Given the description of an element on the screen output the (x, y) to click on. 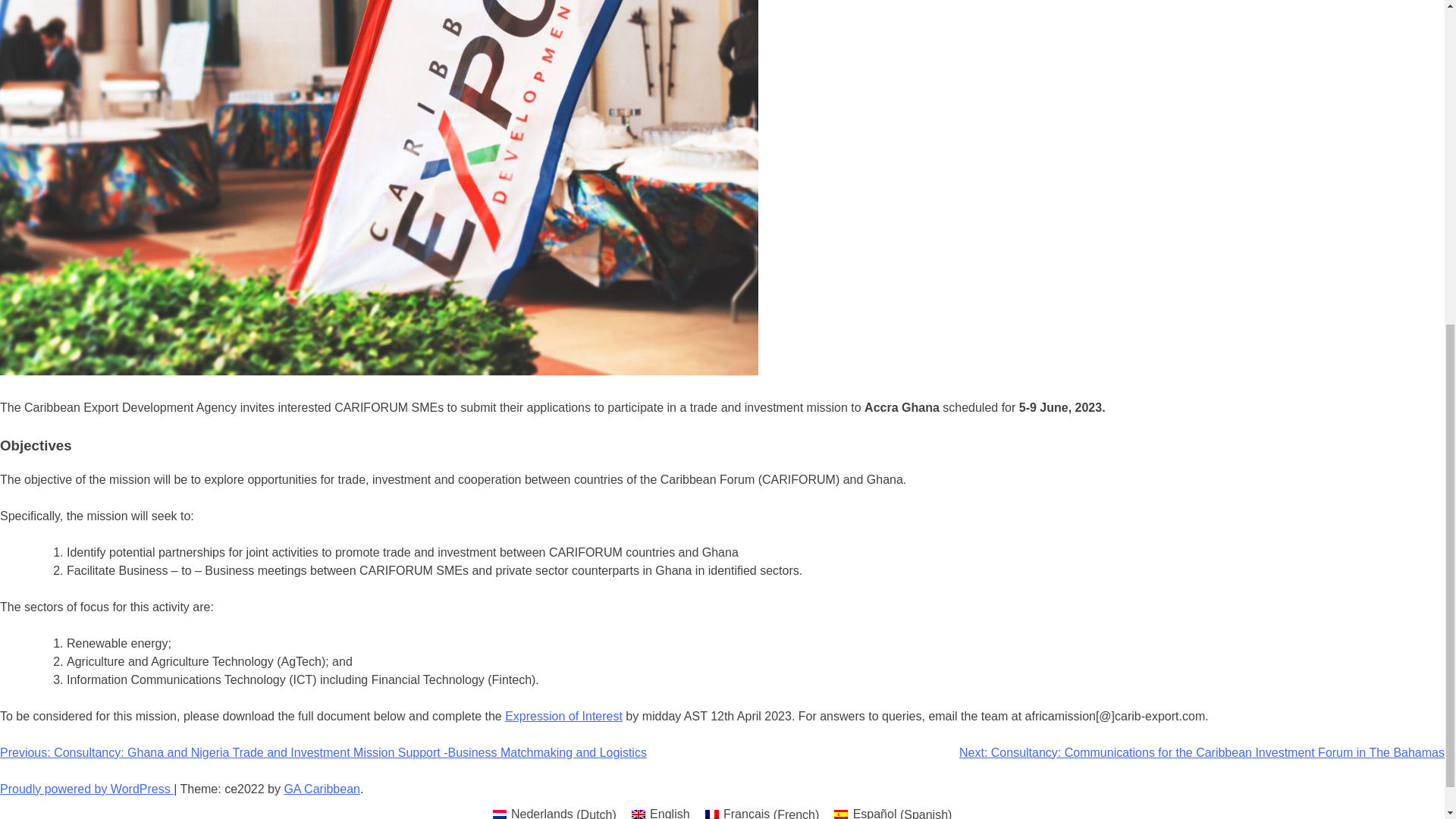
Expression of Interest (564, 716)
GA Caribbean (321, 788)
Proudly powered by WordPress (86, 788)
